Given the description of an element on the screen output the (x, y) to click on. 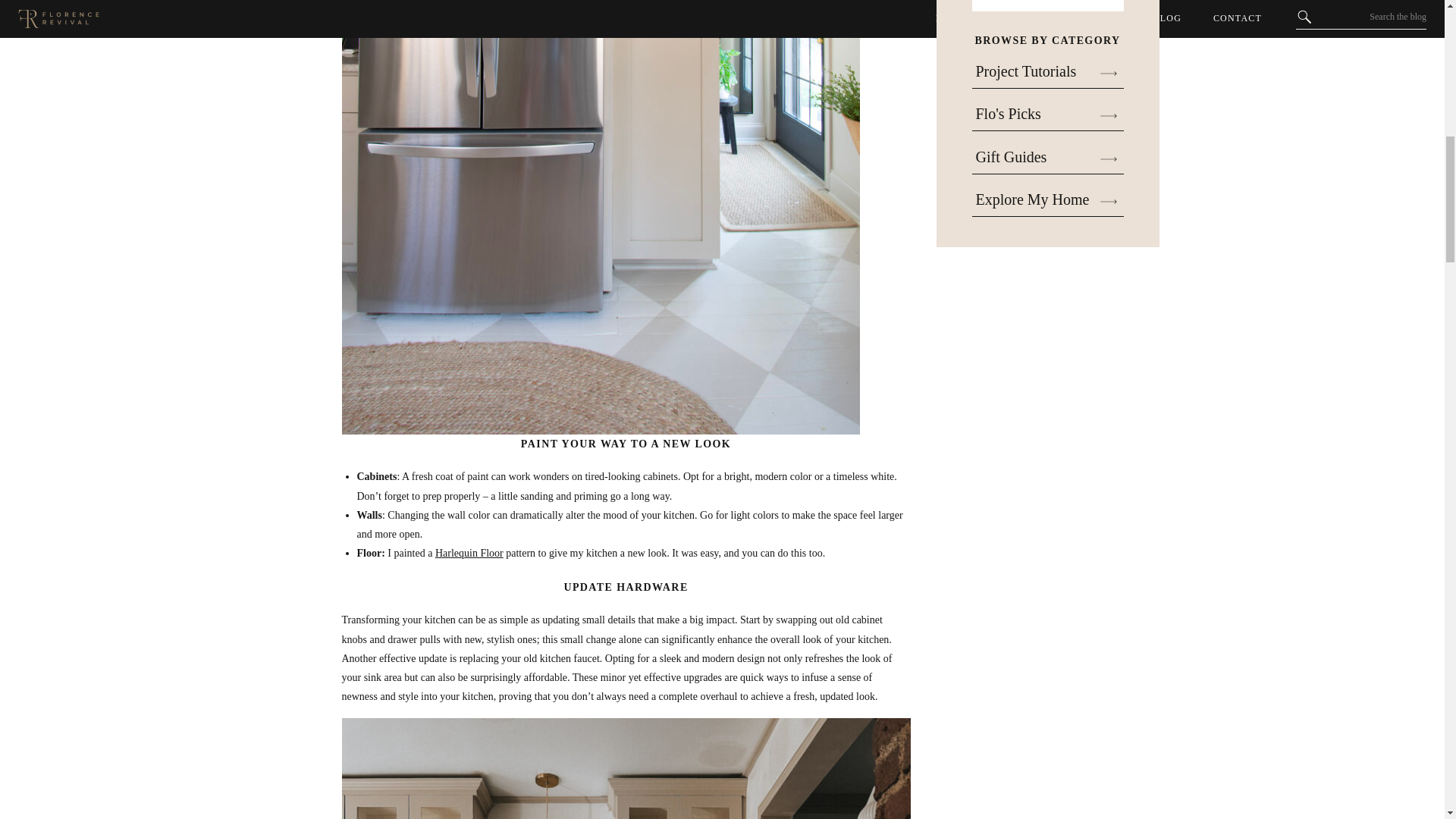
Explore My Home (1047, 201)
Harlequin Floor (469, 552)
Flo's Picks (1047, 115)
Project Tutorials (1047, 73)
Gift Guides (1047, 158)
